Given the description of an element on the screen output the (x, y) to click on. 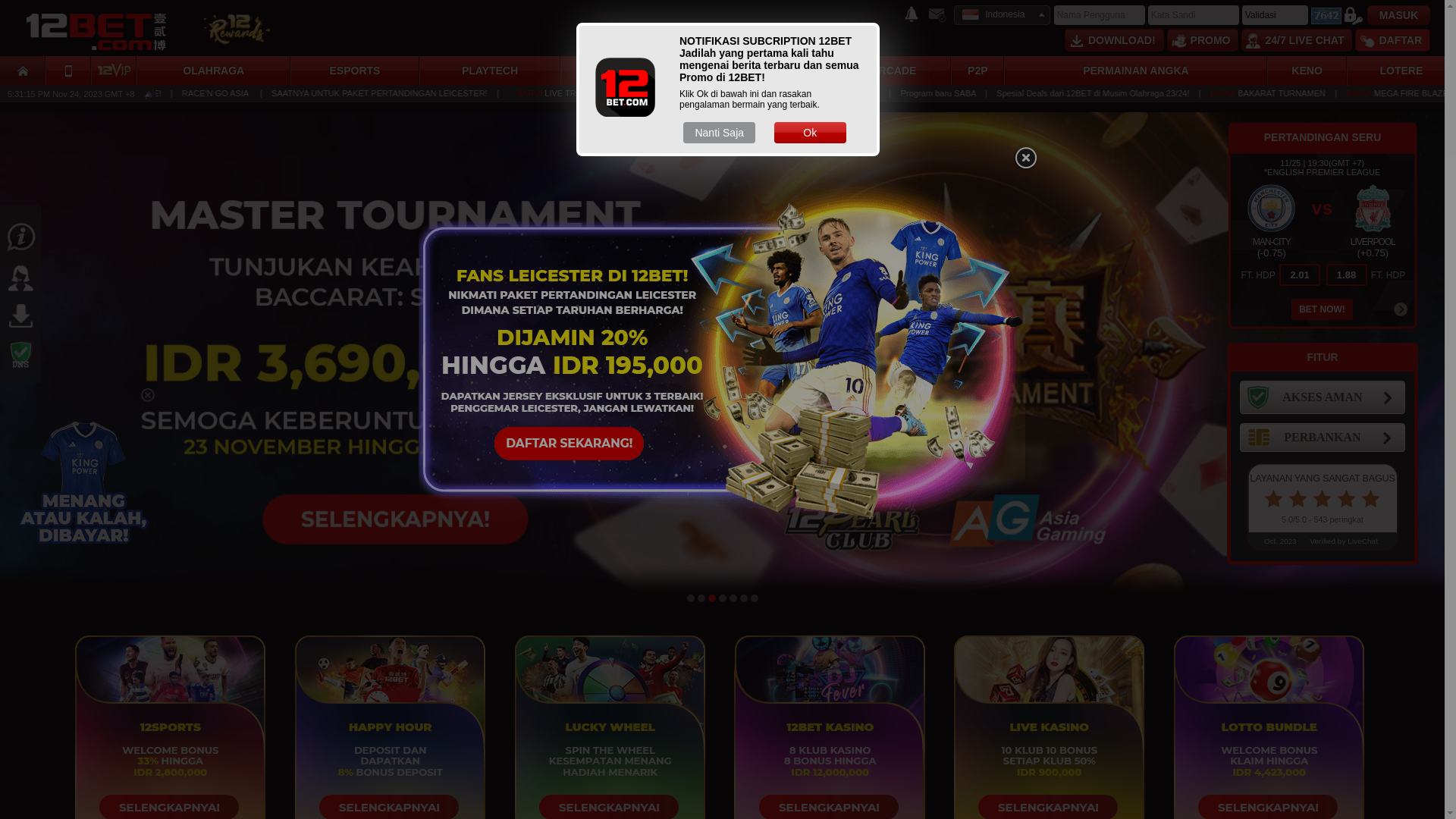
MASUK Element type: text (1398, 15)
SAATNYA UNTUK PAKET PERTANDINGAN LEICESTER!    |     Element type: text (579, 92)
Spesial Deals dari 12BET di Musim Olahraga 23/24!    |     Element type: text (1311, 92)
BARU! MEGA FIRE BLAZE ROULETTE!    |     Element type: text (289, 92)
OLAHRAGA Element type: text (213, 70)
PERMAINAN ANGKA Element type: text (1135, 70)
Program baru SABA    |     Element type: text (1158, 92)
KASINO Element type: text (612, 70)
LIVE KASINO Element type: text (750, 70)
PROMO Element type: text (1203, 39)
P2P Element type: text (977, 70)
PLAYTECH Element type: text (490, 70)
Ok Element type: text (810, 132)
KENO Element type: text (1306, 70)
24/7 LIVE CHAT Element type: text (1296, 39)
JANGAN LEWATKAN HAPPY HOURS HARIAN!    |     Element type: text (1012, 92)
RACE'N GO ASIA     |     Element type: text (419, 92)
Close Element type: hover (1024, 158)
BAKARAT TURNAMEN    |     Element type: text (137, 92)
DAFTAR Element type: text (1392, 39)
Nanti Saja Element type: text (719, 132)
DOWNLOAD! Element type: text (1114, 39)
BARU! LIVE TRIVIA - $100,000 JACKPOT !    |     Element type: text (822, 92)
ESPORTS Element type: text (354, 70)
ARCADE Element type: text (892, 70)
